Given the description of an element on the screen output the (x, y) to click on. 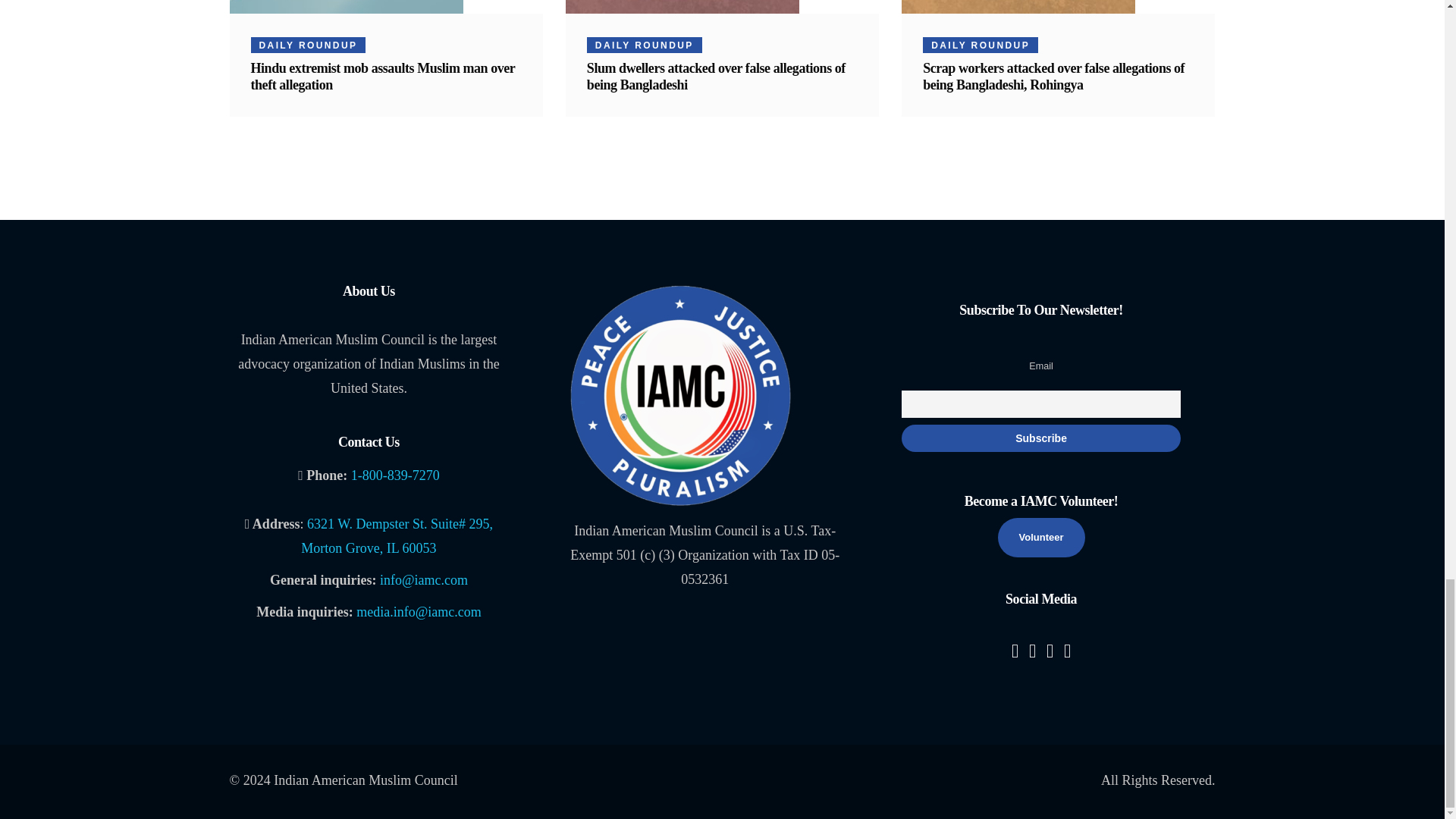
Subscribe (1040, 438)
